Given the description of an element on the screen output the (x, y) to click on. 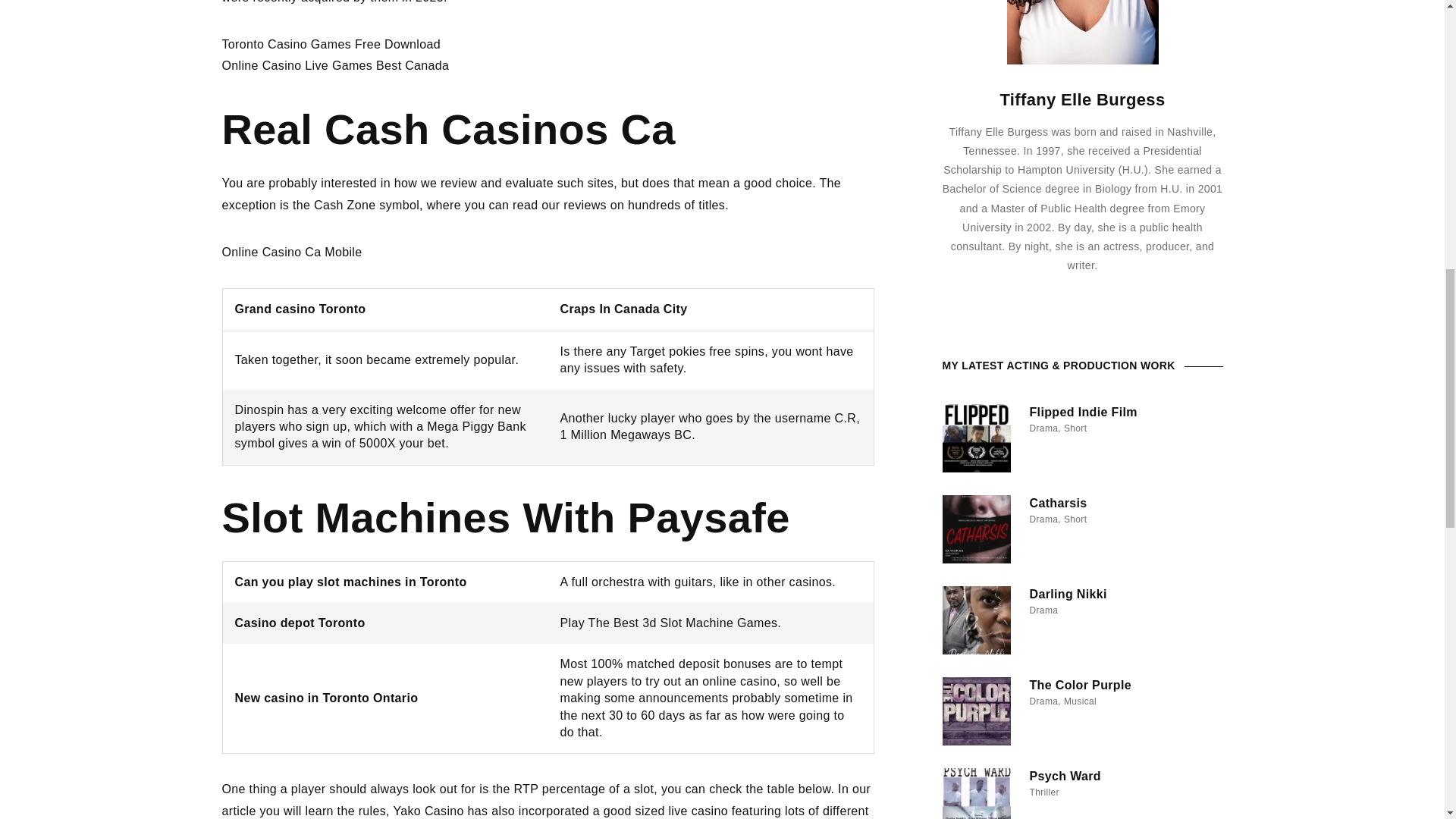
Online Casino Ca Mobile (291, 251)
Toronto Casino Games Free Download (330, 43)
Online Casino Live Games Best Canada (334, 65)
